Given the description of an element on the screen output the (x, y) to click on. 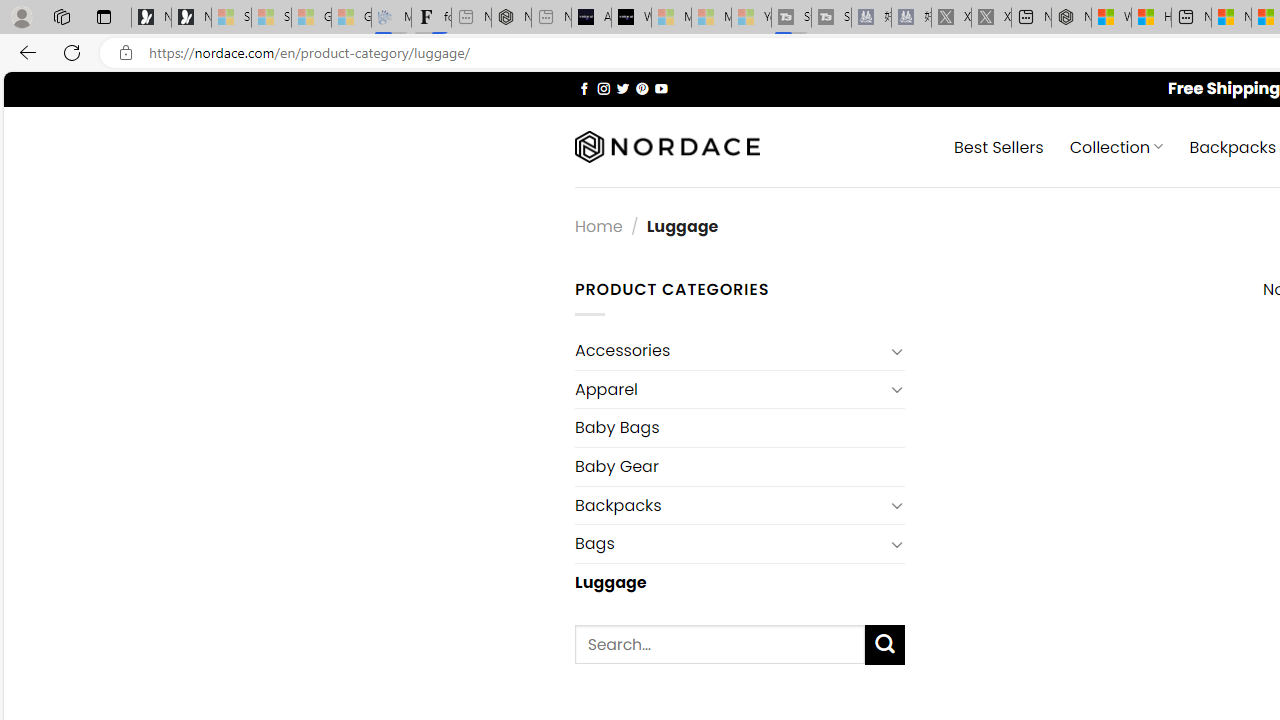
Nordace - #1 Japanese Best-Seller - Siena Smart Backpack (511, 17)
Tab actions menu (104, 16)
Wildlife - MSN (1111, 17)
Workspaces (61, 16)
Luggage (739, 582)
AI Voice Changer for PC and Mac - Voice.ai (591, 17)
Backpacks (729, 505)
Submit (884, 644)
Apparel (729, 389)
Nordace (667, 147)
New tab - Sleeping (551, 17)
